Given the description of an element on the screen output the (x, y) to click on. 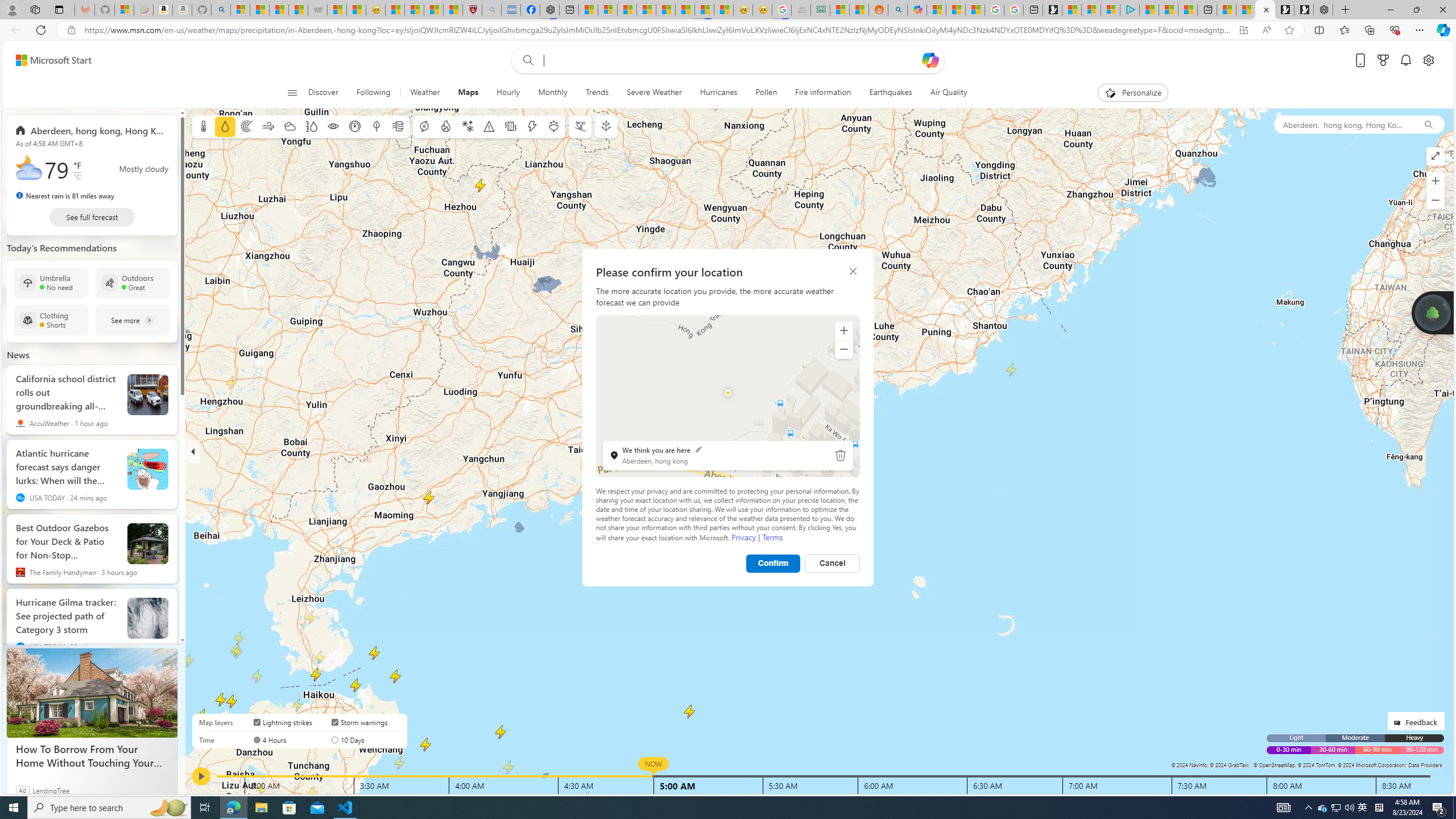
App available. Install Microsoft Start Weather (1243, 29)
Monthly (552, 92)
MSNBC - MSN (839, 9)
Maps (467, 92)
Discover (322, 92)
Remove (840, 454)
Microsoft account | Privacy (1110, 9)
Weather (424, 92)
Earthquake (510, 126)
list of asthma inhalers uk - Search - Sleeping (491, 9)
DITOGAMES AG Imprint (820, 9)
